Given the description of an element on the screen output the (x, y) to click on. 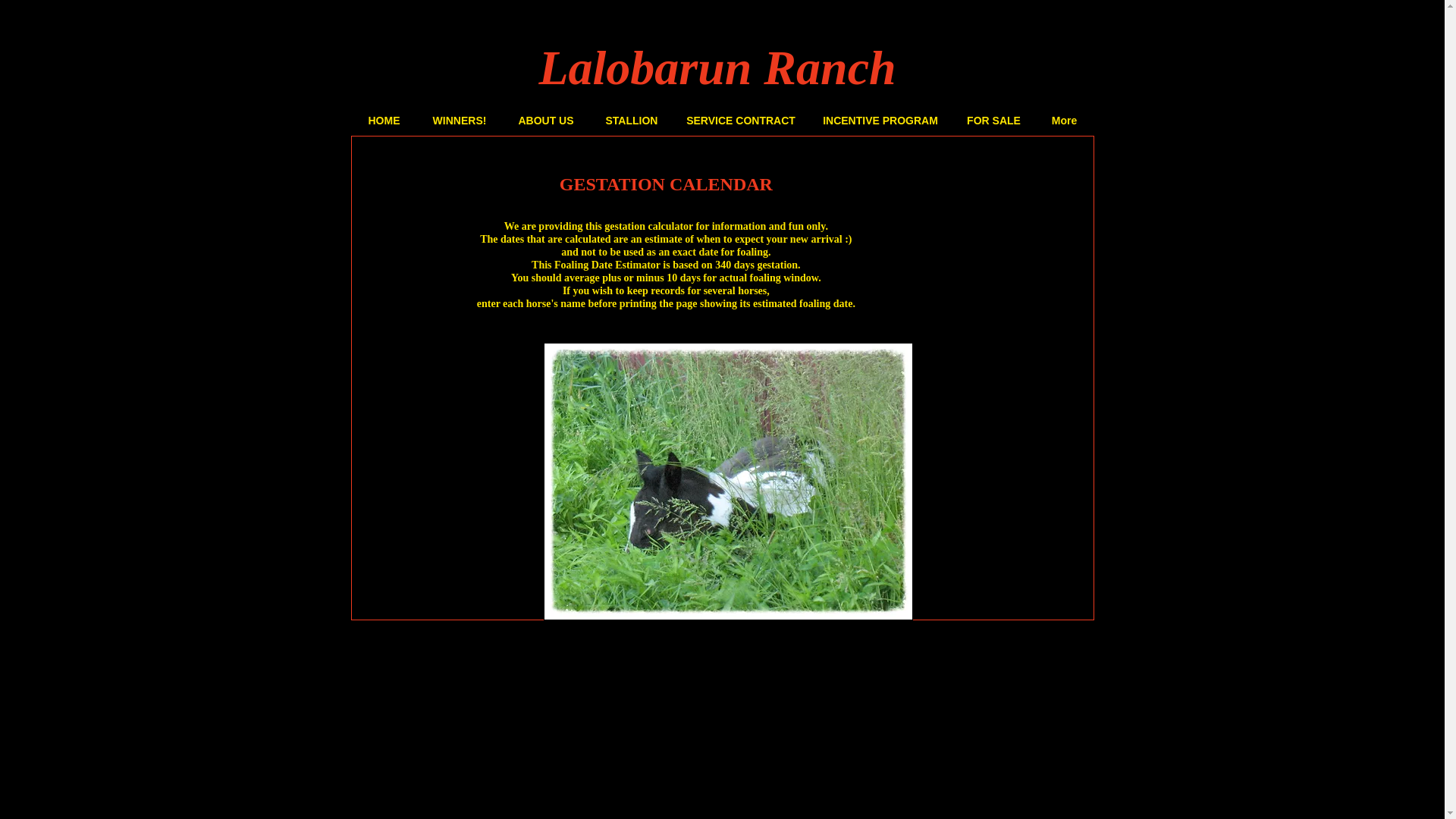
WINNERS! (459, 120)
SERVICE CONTRACT (740, 120)
HOME (384, 120)
STALLION (631, 120)
FOR SALE (992, 120)
INCENTIVE PROGRAM (880, 120)
ABOUT US (545, 120)
